Given the description of an element on the screen output the (x, y) to click on. 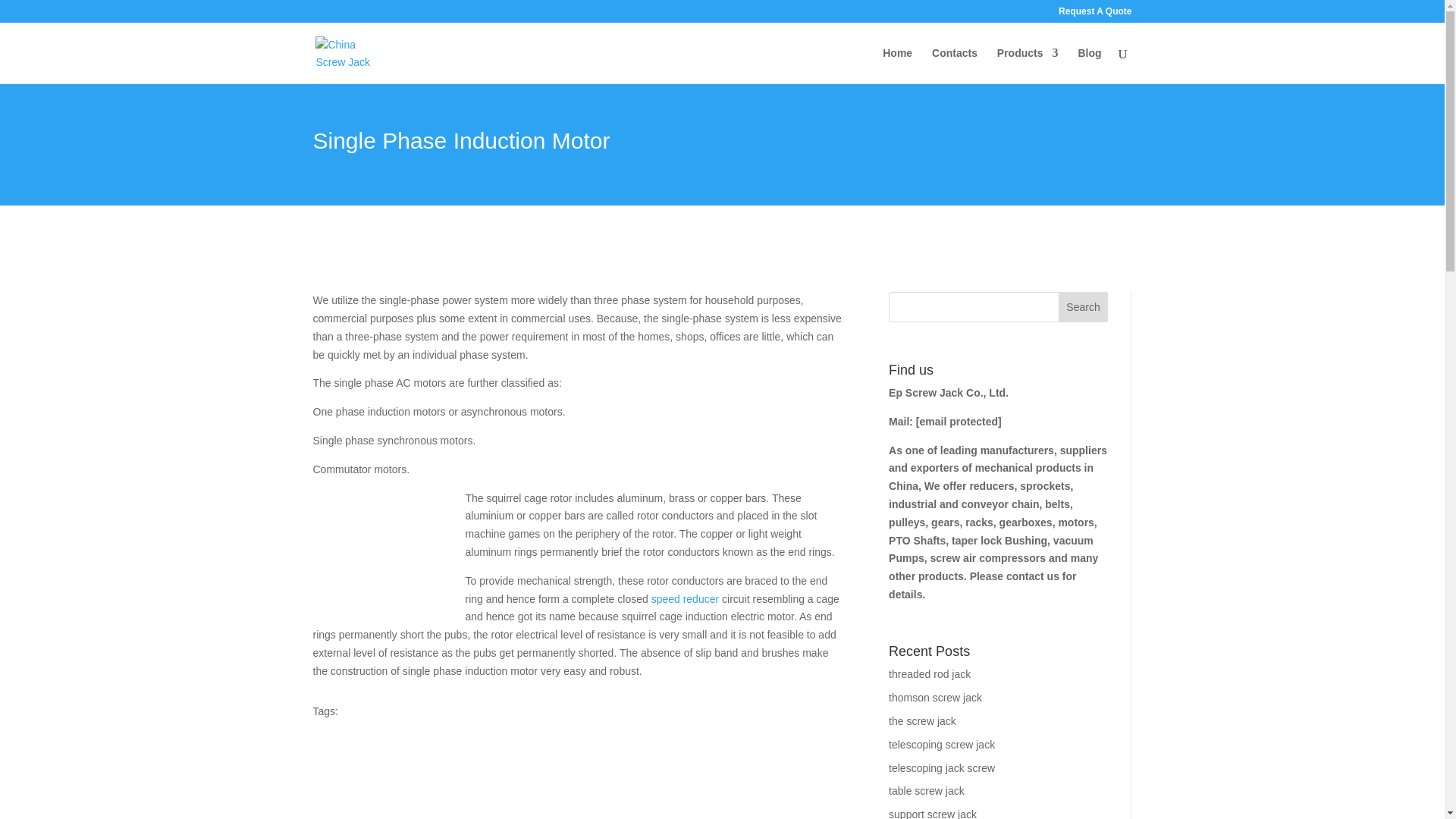
table screw jack (925, 790)
threaded rod jack (929, 674)
the screw jack (922, 720)
telescoping screw jack (941, 744)
Products (1027, 65)
support screw jack (932, 813)
Request A Quote (1094, 14)
speed reducer (684, 598)
Home (897, 65)
thomson screw jack (934, 697)
Search (1083, 306)
Blog (1088, 65)
Contacts (953, 65)
telescoping jack screw (941, 767)
Search (1083, 306)
